Given the description of an element on the screen output the (x, y) to click on. 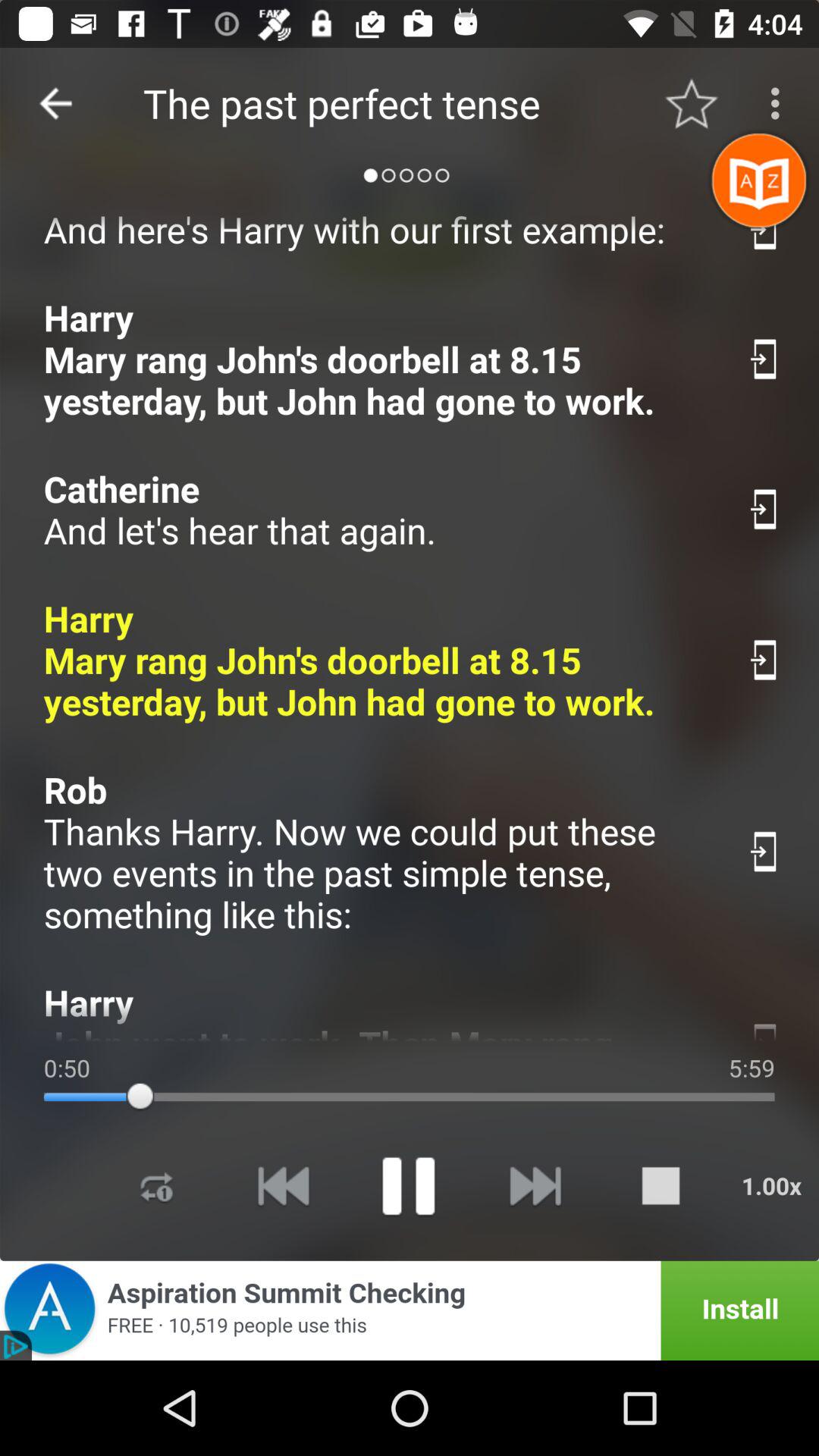
next option (534, 1185)
